Given the description of an element on the screen output the (x, y) to click on. 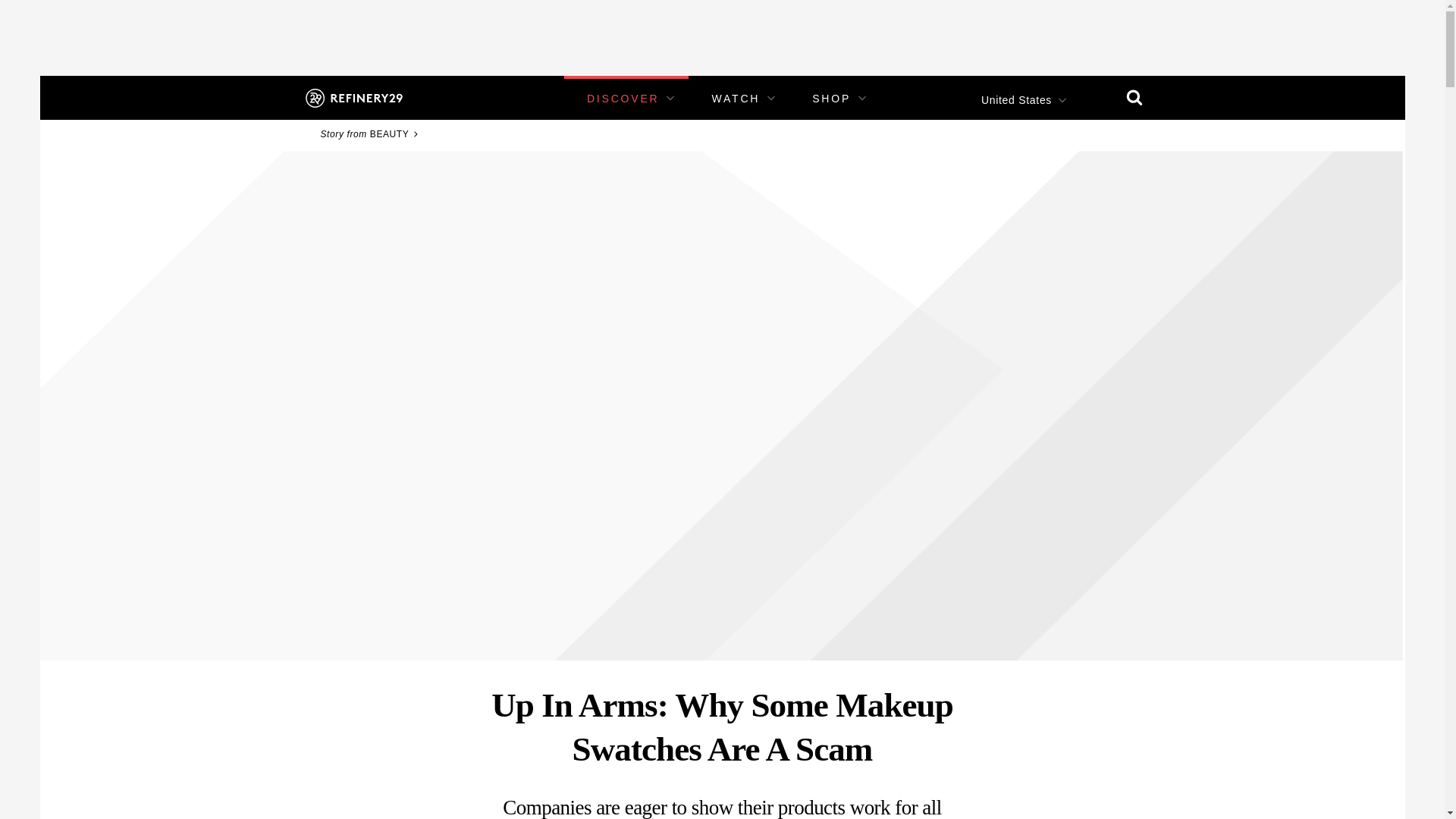
Story from BEAUTY (371, 133)
Refinery29 (352, 97)
DISCOVER (622, 98)
WATCH (735, 98)
SHOP (831, 98)
